Given the description of an element on the screen output the (x, y) to click on. 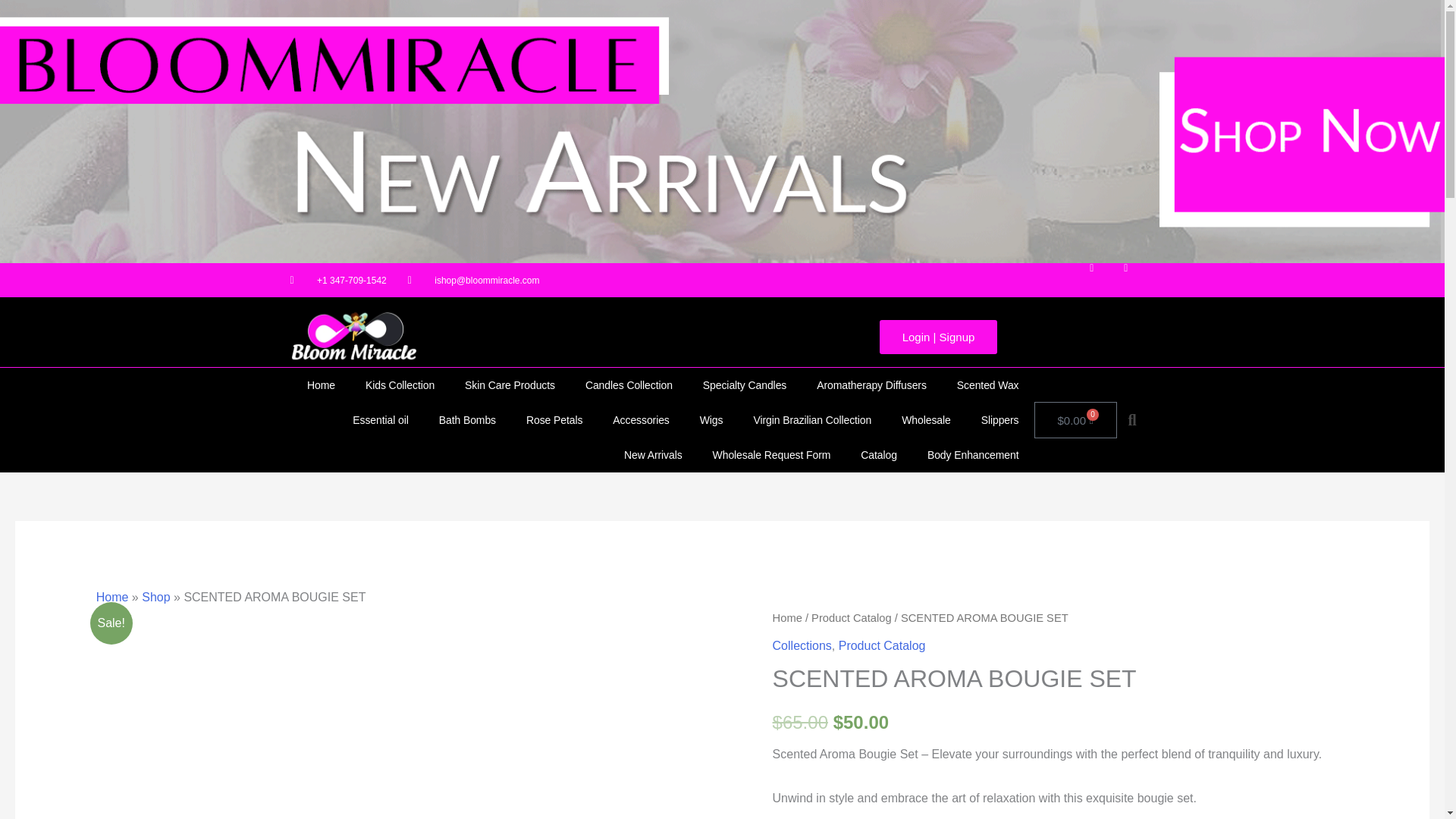
Kids Collection (399, 384)
Slippers (999, 419)
Skin Care Products (509, 384)
Instagram (1137, 279)
Wholesale Request Form (771, 454)
Home (321, 384)
Facebook-f (1103, 279)
Accessories (640, 419)
Aromatherapy Diffusers (872, 384)
Essential oil (380, 419)
Body Enhancement (972, 454)
Specialty Candles (744, 384)
Catalog (878, 454)
Wigs (711, 419)
Candles Collection (628, 384)
